Given the description of an element on the screen output the (x, y) to click on. 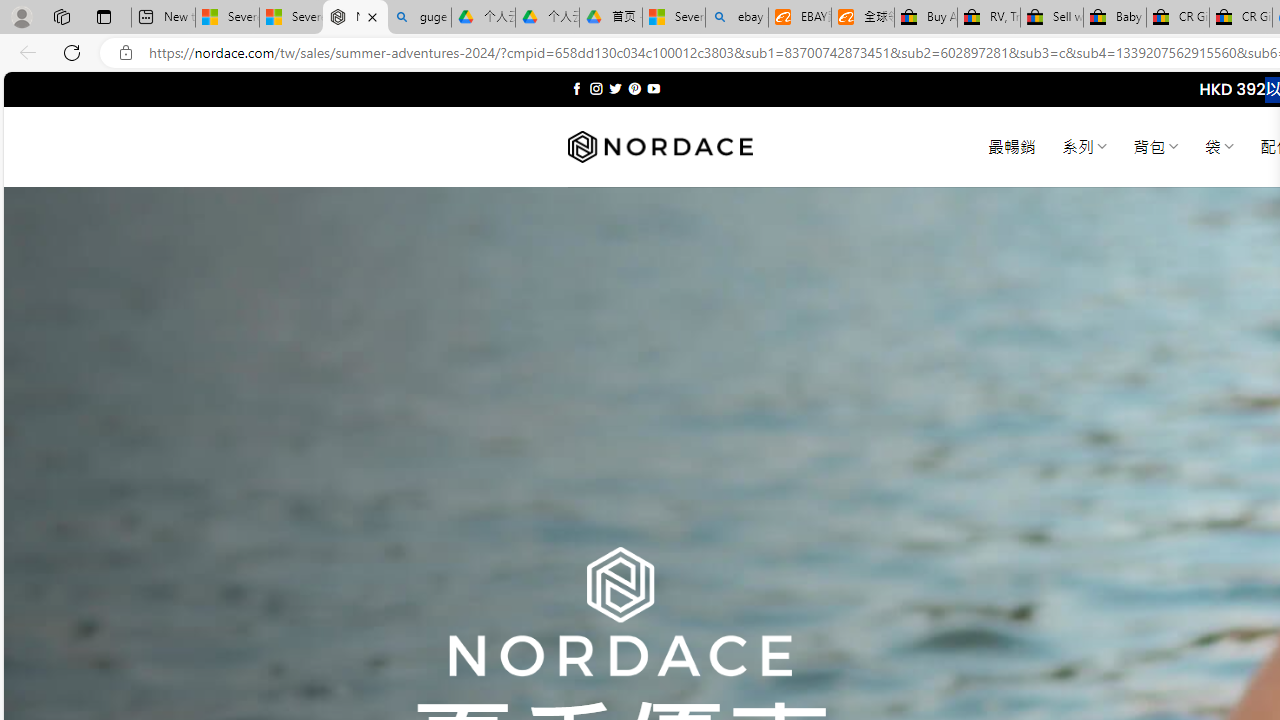
Sell worldwide with eBay (1051, 17)
RV, Trailer & Camper Steps & Ladders for sale | eBay (988, 17)
guge yunpan - Search (418, 17)
Follow on Twitter (615, 88)
